Given the description of an element on the screen output the (x, y) to click on. 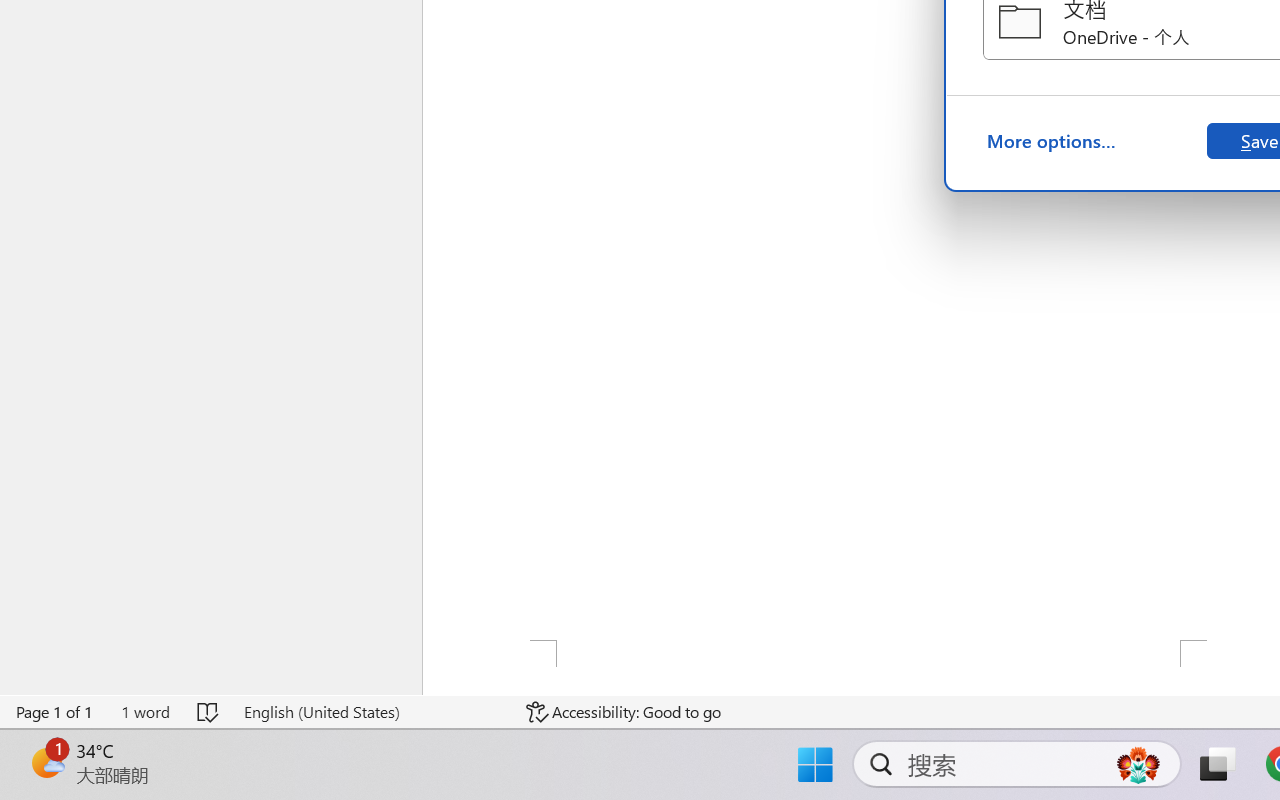
AutomationID: BadgeAnchorLargeTicker (46, 762)
Page Number Page 1 of 1 (55, 712)
Accessibility Checker Accessibility: Good to go (623, 712)
AutomationID: DynamicSearchBoxGleamImage (1138, 764)
Language English (United States) (370, 712)
Spelling and Grammar Check No Errors (208, 712)
Word Count 1 word (145, 712)
